Given the description of an element on the screen output the (x, y) to click on. 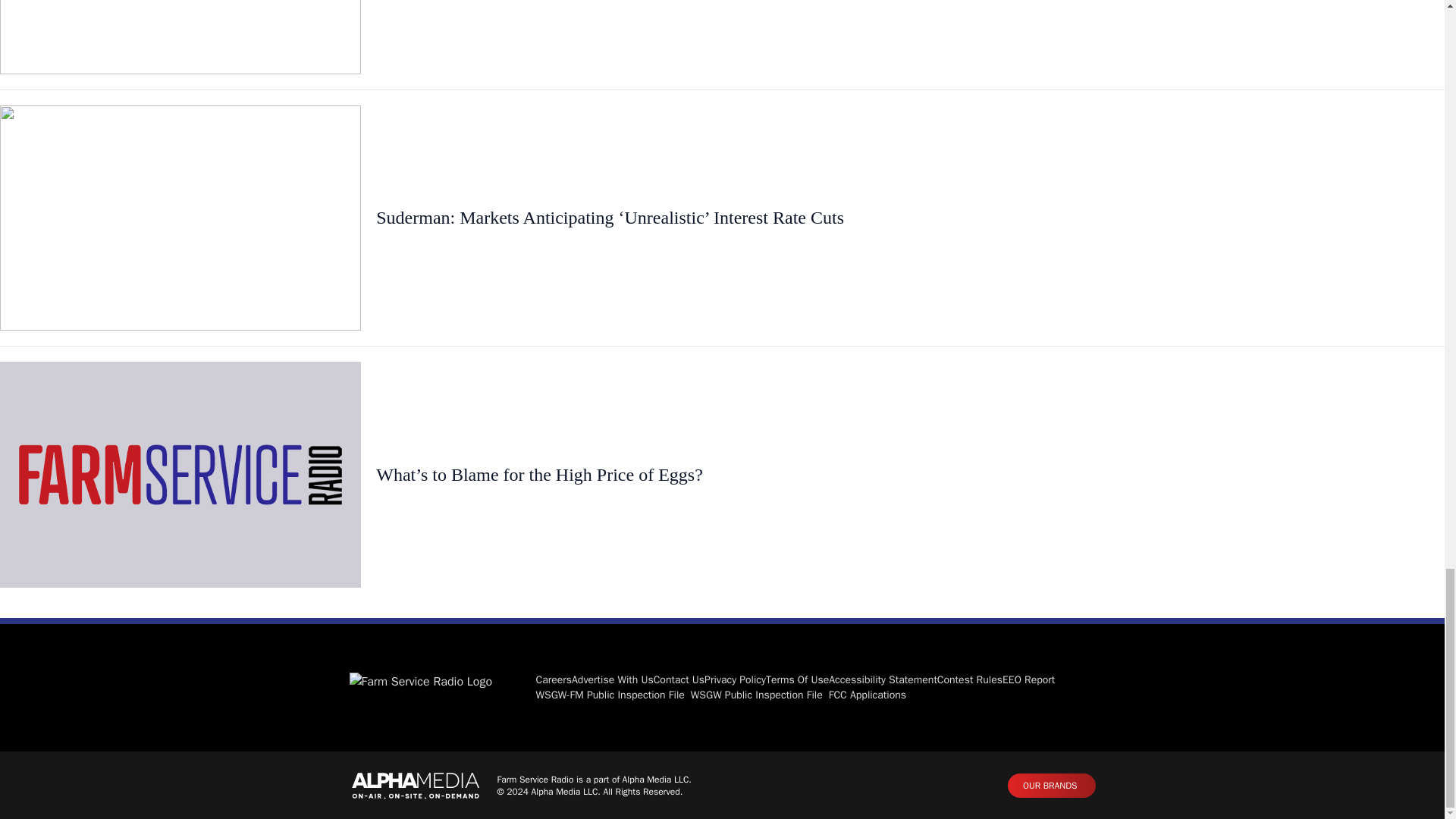
Accessibility Statement (882, 679)
Advertise With Us (612, 679)
Privacy Policy (734, 679)
Careers (553, 679)
Terms Of Use (796, 679)
Contact Us (678, 679)
